Given the description of an element on the screen output the (x, y) to click on. 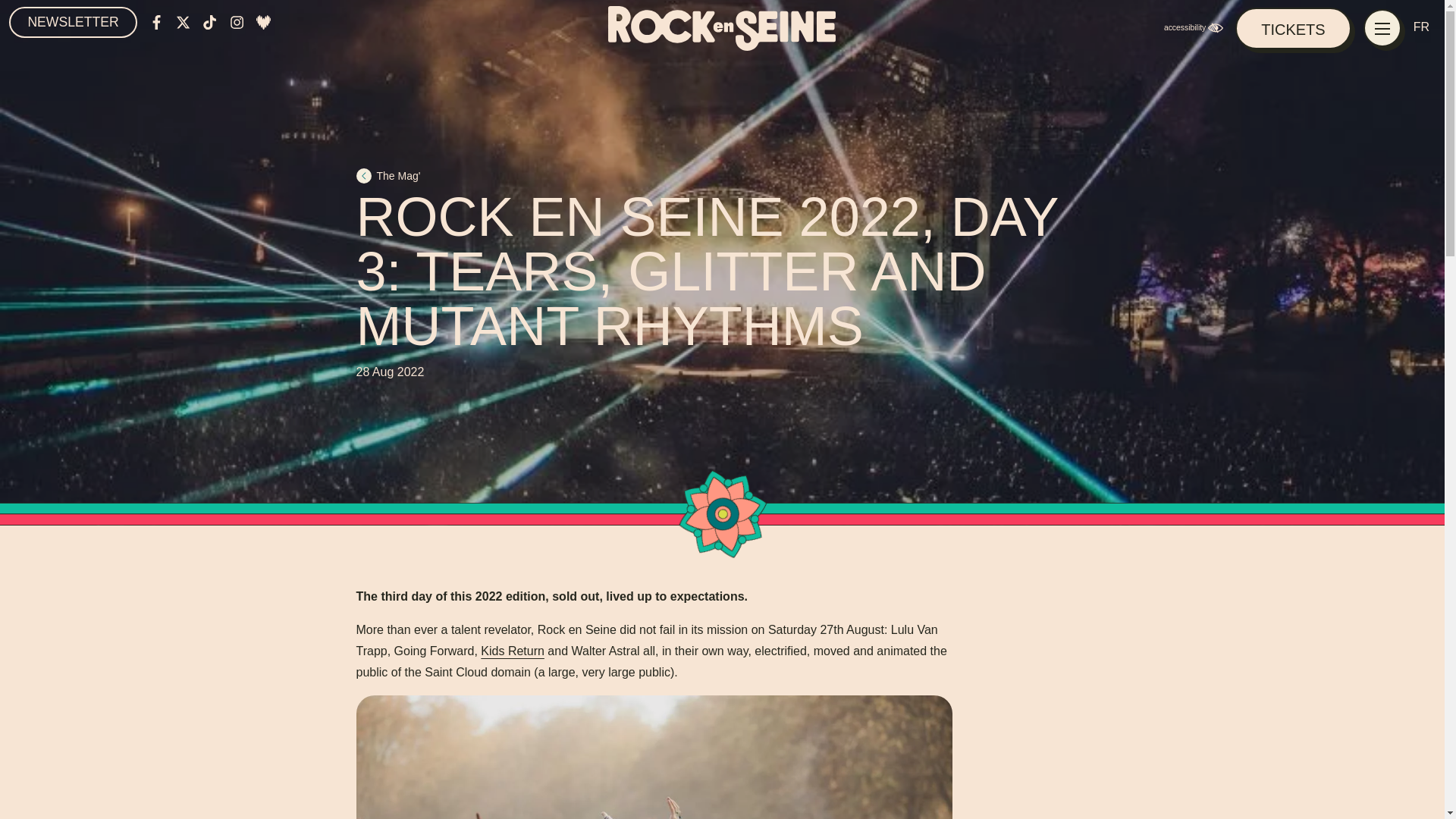
Kids Return (512, 650)
FR (1424, 27)
accessibility (1196, 27)
The Mag' (722, 176)
TICKETS (1292, 28)
Page Instagram (237, 21)
Page Deezer (263, 21)
Page TikTok (209, 21)
NEWSLETTER (72, 21)
Page Facebook (156, 21)
Page twitter (183, 21)
Menu (1381, 27)
